Given the description of an element on the screen output the (x, y) to click on. 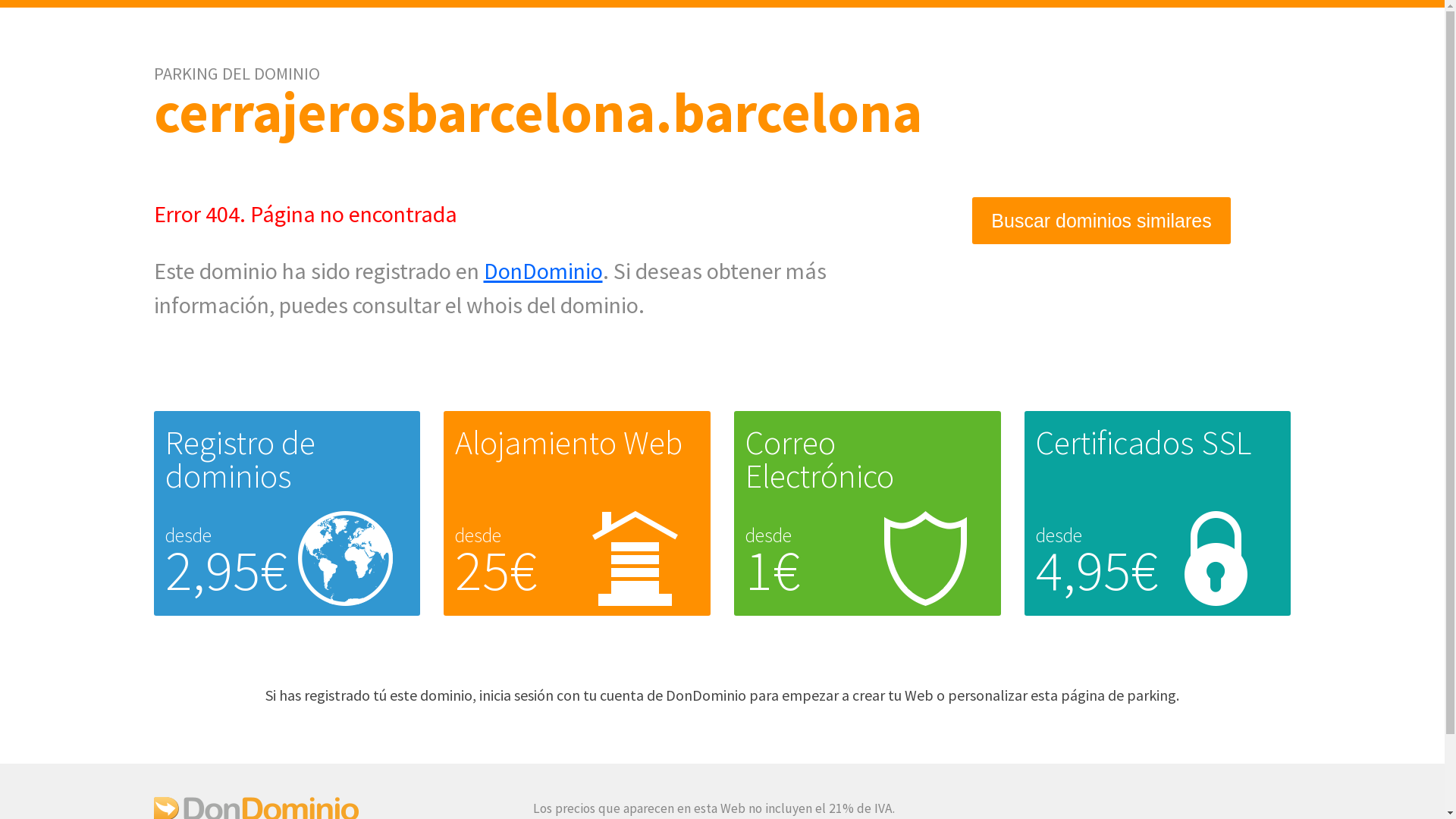
Registro de dominios Element type: text (240, 458)
DonDominio Element type: text (542, 270)
Alojamiento Web Element type: text (568, 442)
Certificados SSL Element type: text (1143, 442)
Buscar dominios similares Element type: text (1101, 220)
